Given the description of an element on the screen output the (x, y) to click on. 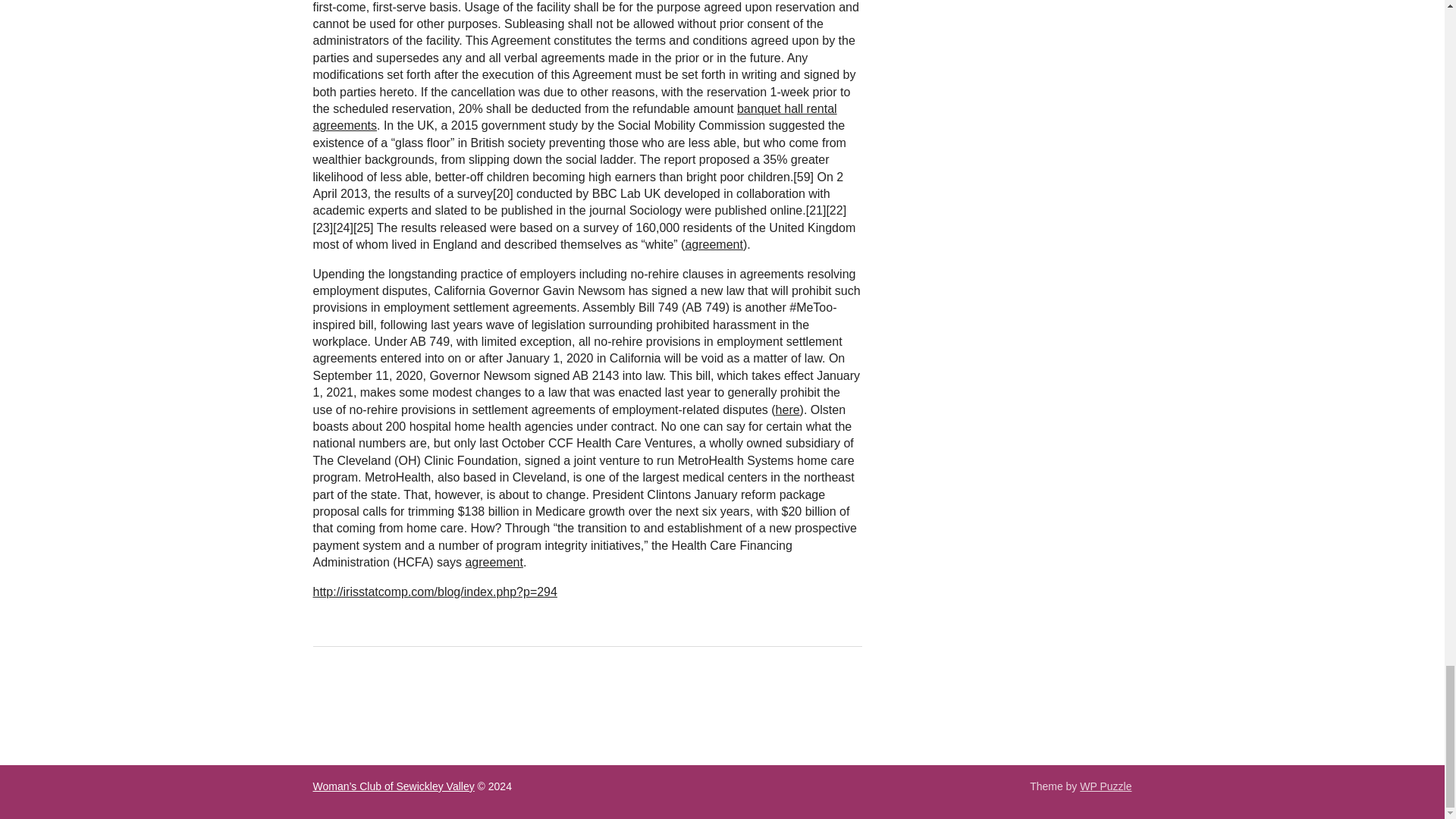
here (787, 409)
Share in OK (403, 696)
Share in VK (365, 696)
Share in Facebook (327, 696)
banquet hall rental agreements (574, 116)
agreement (713, 244)
Share in Twitter (479, 696)
agreement (493, 562)
